Given the description of an element on the screen output the (x, y) to click on. 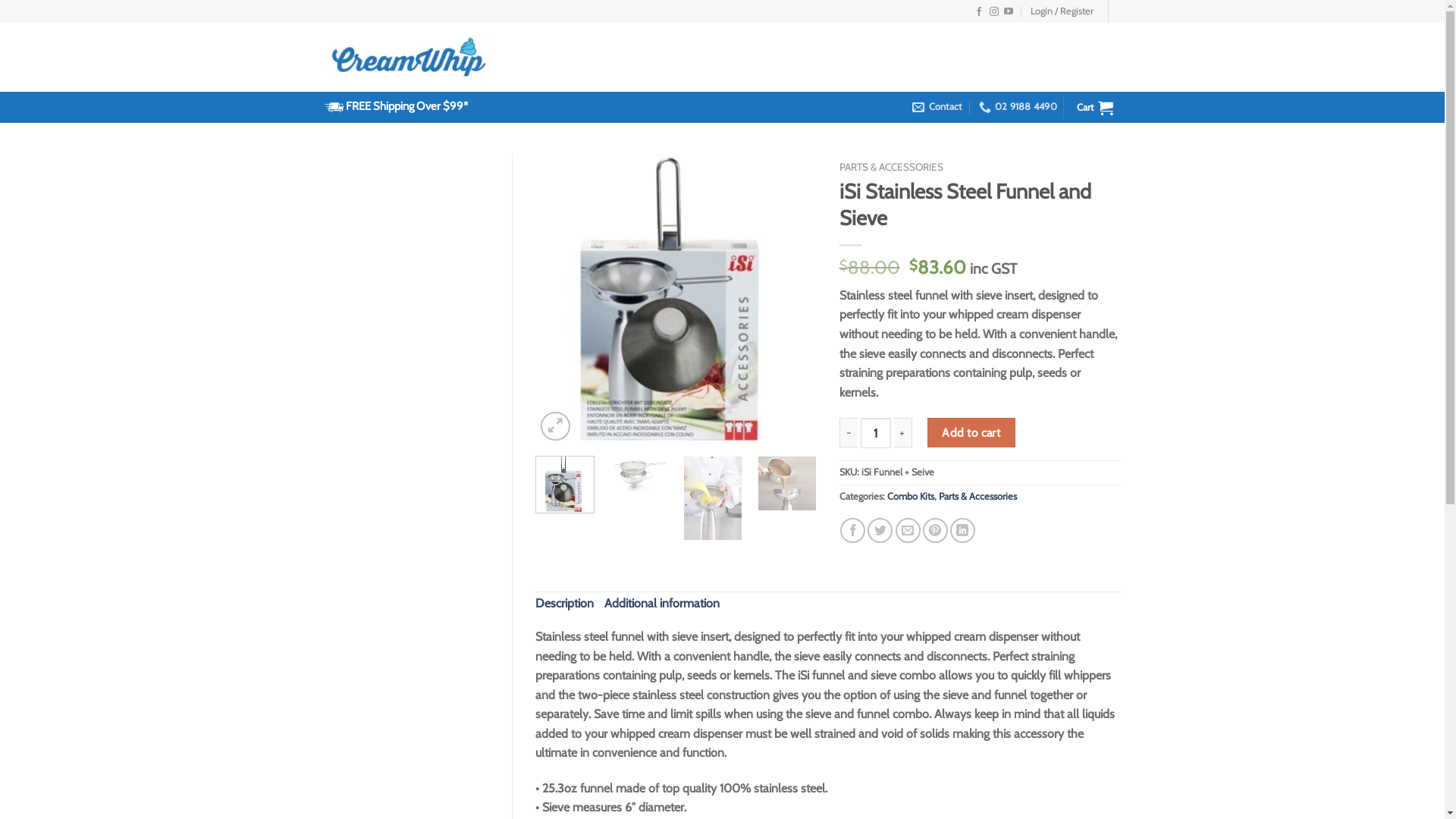
Cart Element type: text (1094, 107)
Qty Element type: hover (875, 432)
Contact Element type: text (936, 106)
Login / Register Element type: text (1061, 11)
Additional information Element type: text (661, 603)
iSi_Funnel_with_Sieve_Insert_australia Element type: hover (675, 298)
CreamWhip Element type: hover (409, 57)
PARTS & ACCESSORIES Element type: text (891, 166)
FREE Shipping Over $99* Element type: text (406, 105)
Add to cart Element type: text (971, 432)
Description Element type: text (564, 603)
Skip to content Element type: text (0, 0)
Parts & Accessories Element type: text (977, 496)
Combo Kits Element type: text (910, 496)
02 9188 4490 Element type: text (1018, 106)
